Given the description of an element on the screen output the (x, y) to click on. 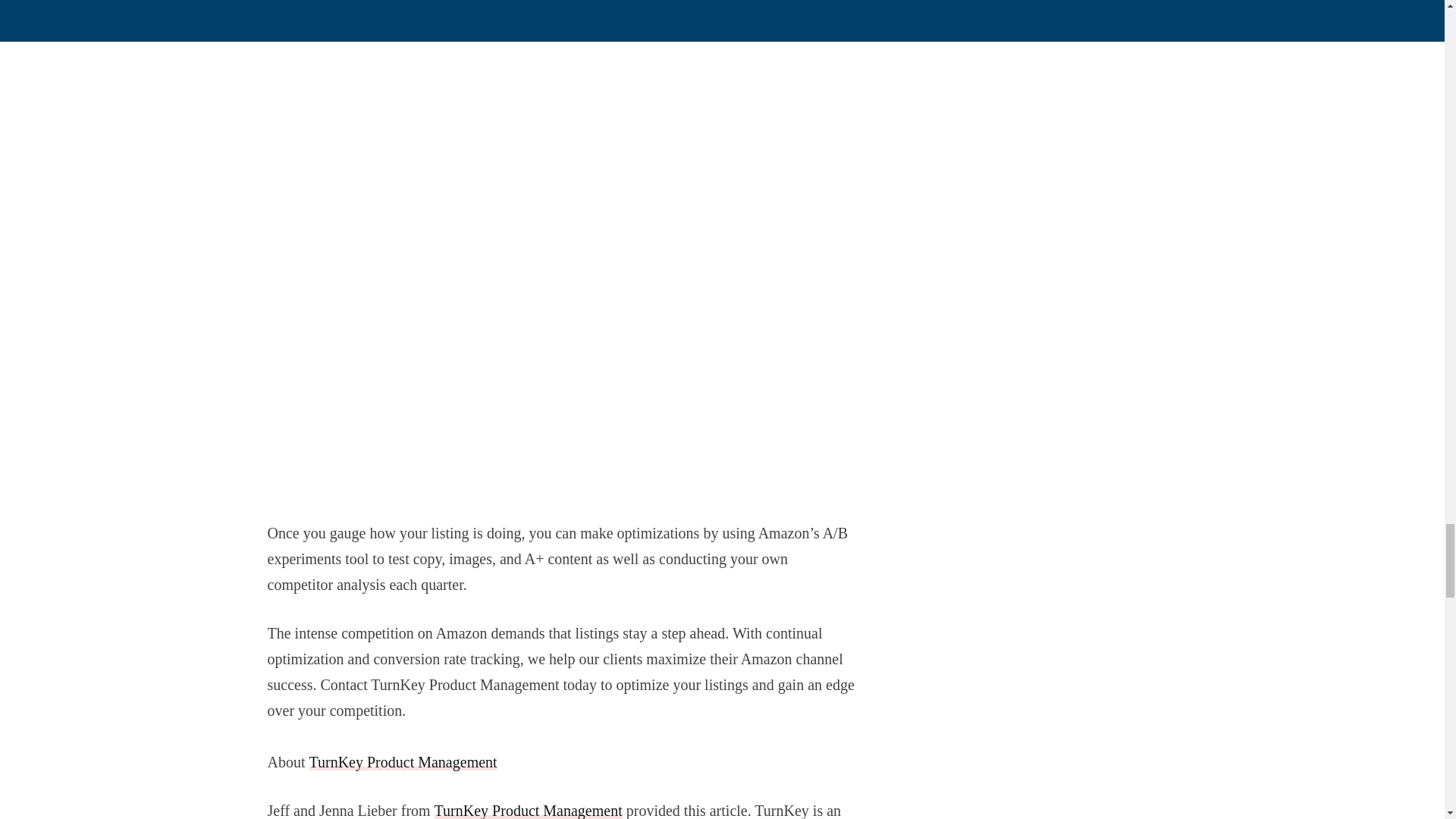
TurnKey Product Management (402, 761)
TurnKey Product Management (528, 810)
